Given the description of an element on the screen output the (x, y) to click on. 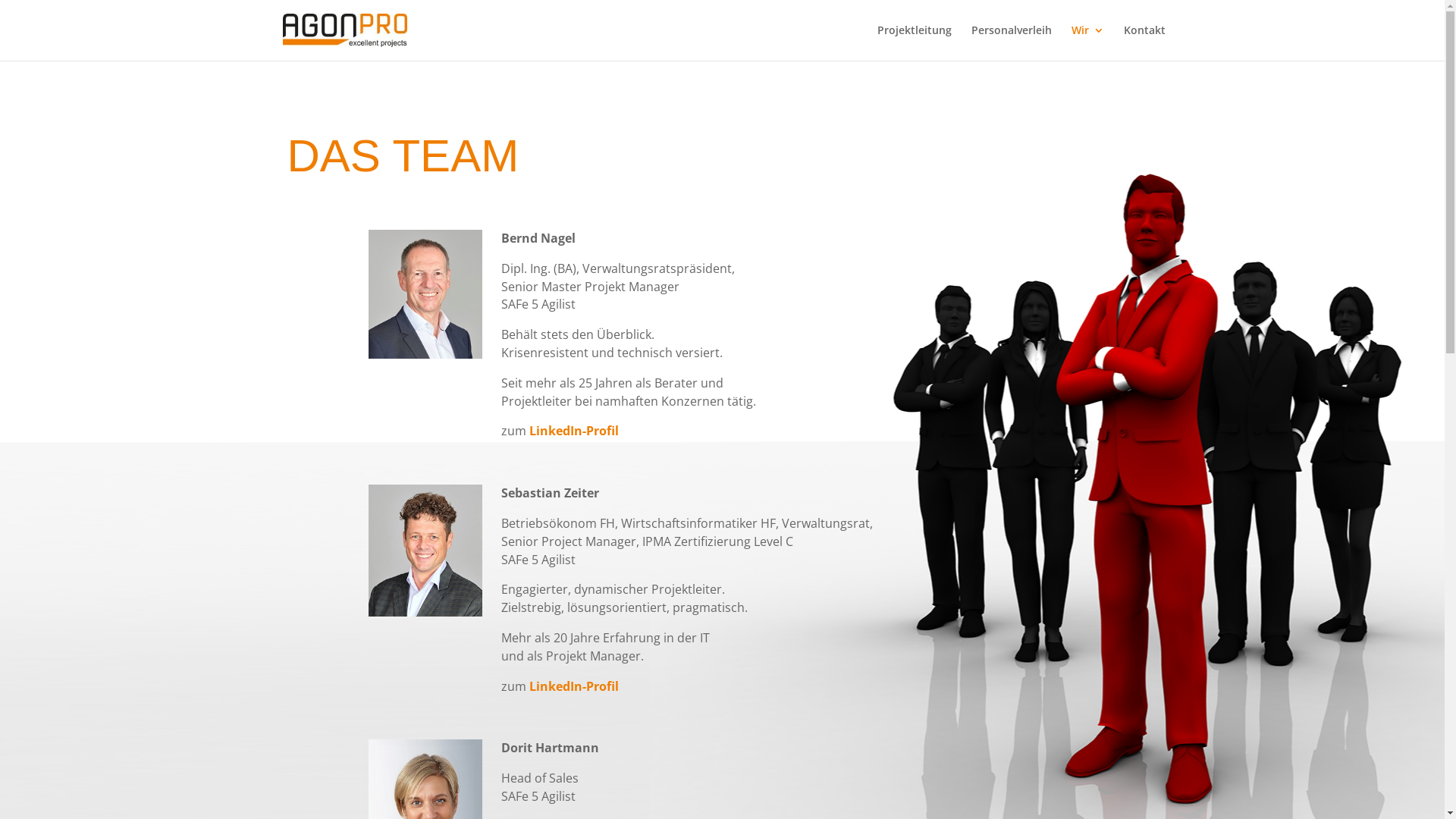
SZ Element type: hover (425, 550)
Projektleitung Element type: text (913, 42)
BN2 Element type: hover (425, 293)
Wir Element type: text (1086, 42)
LinkedIn-Profil Element type: text (573, 685)
Personalverleih Element type: text (1010, 42)
LinkedIn-Profil Element type: text (573, 430)
Kontakt Element type: text (1144, 42)
